Given the description of an element on the screen output the (x, y) to click on. 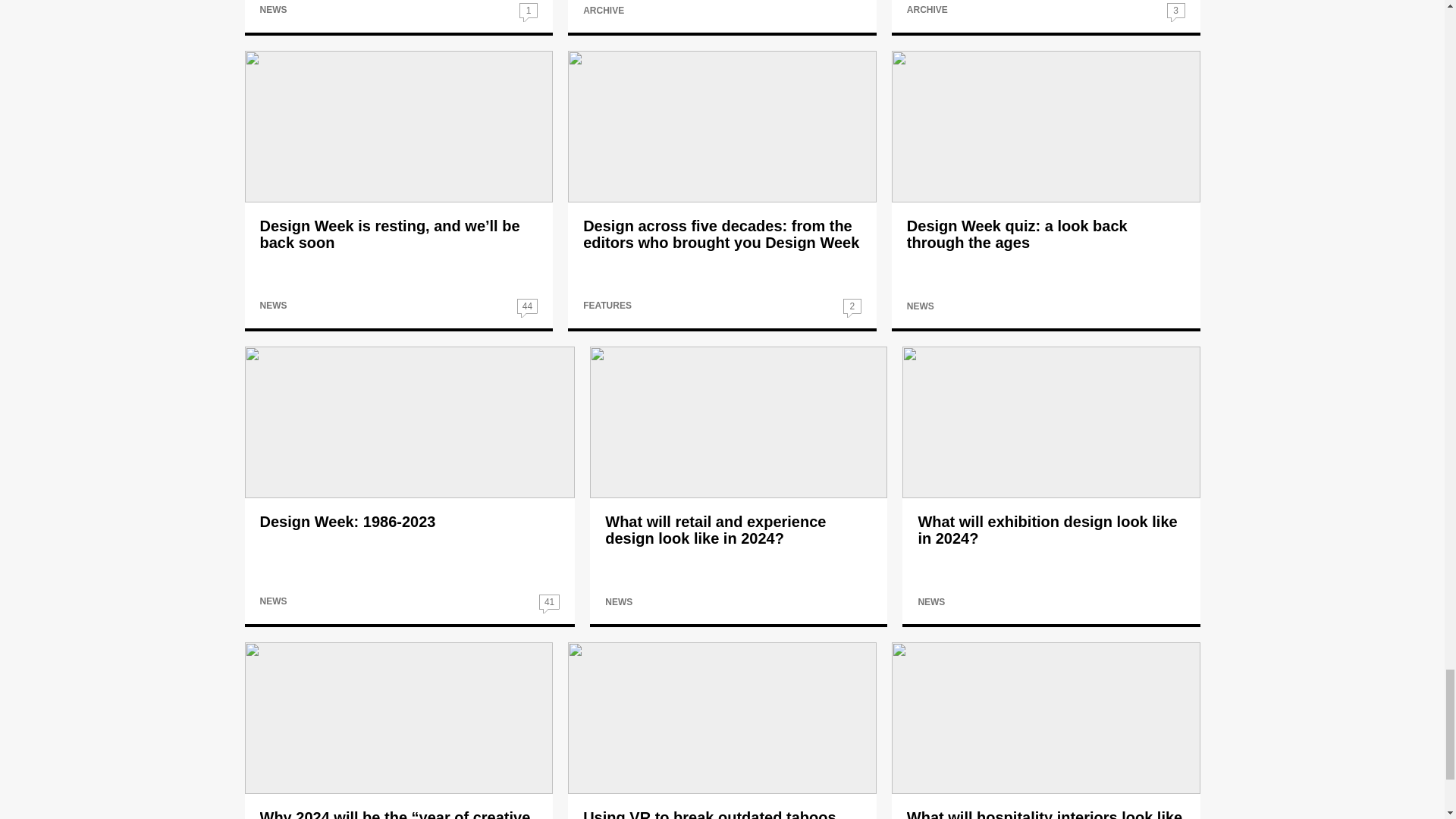
NEWS (272, 9)
ARCHIVE (603, 9)
ARCHIVE (927, 9)
